Given the description of an element on the screen output the (x, y) to click on. 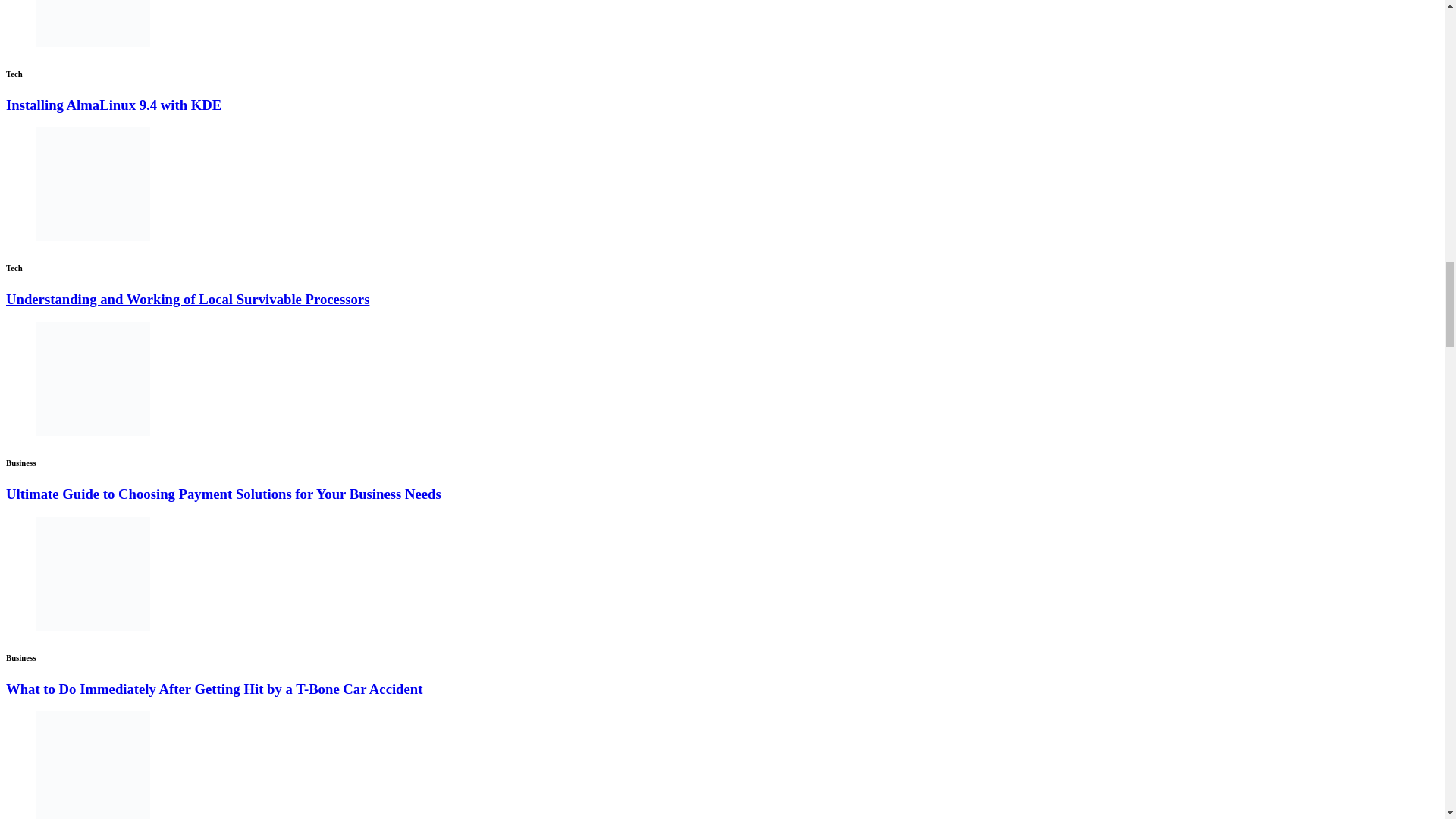
Installing AlmaLinux 9.4 with KDE (113, 105)
Understanding and Working of Local Survivable Processors (187, 299)
